Given the description of an element on the screen output the (x, y) to click on. 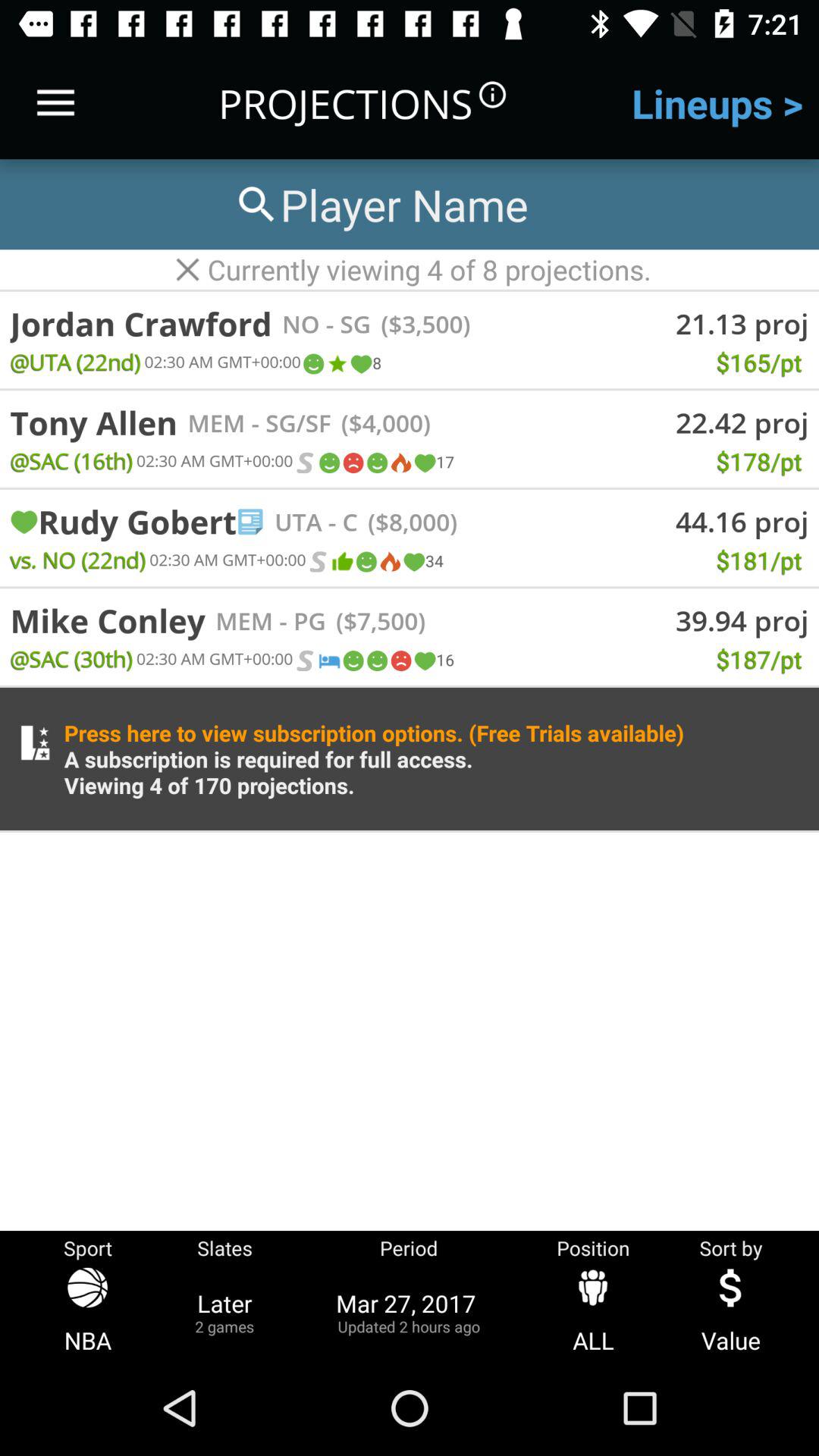
turn on item below rudy gobert item (77, 559)
